Given the description of an element on the screen output the (x, y) to click on. 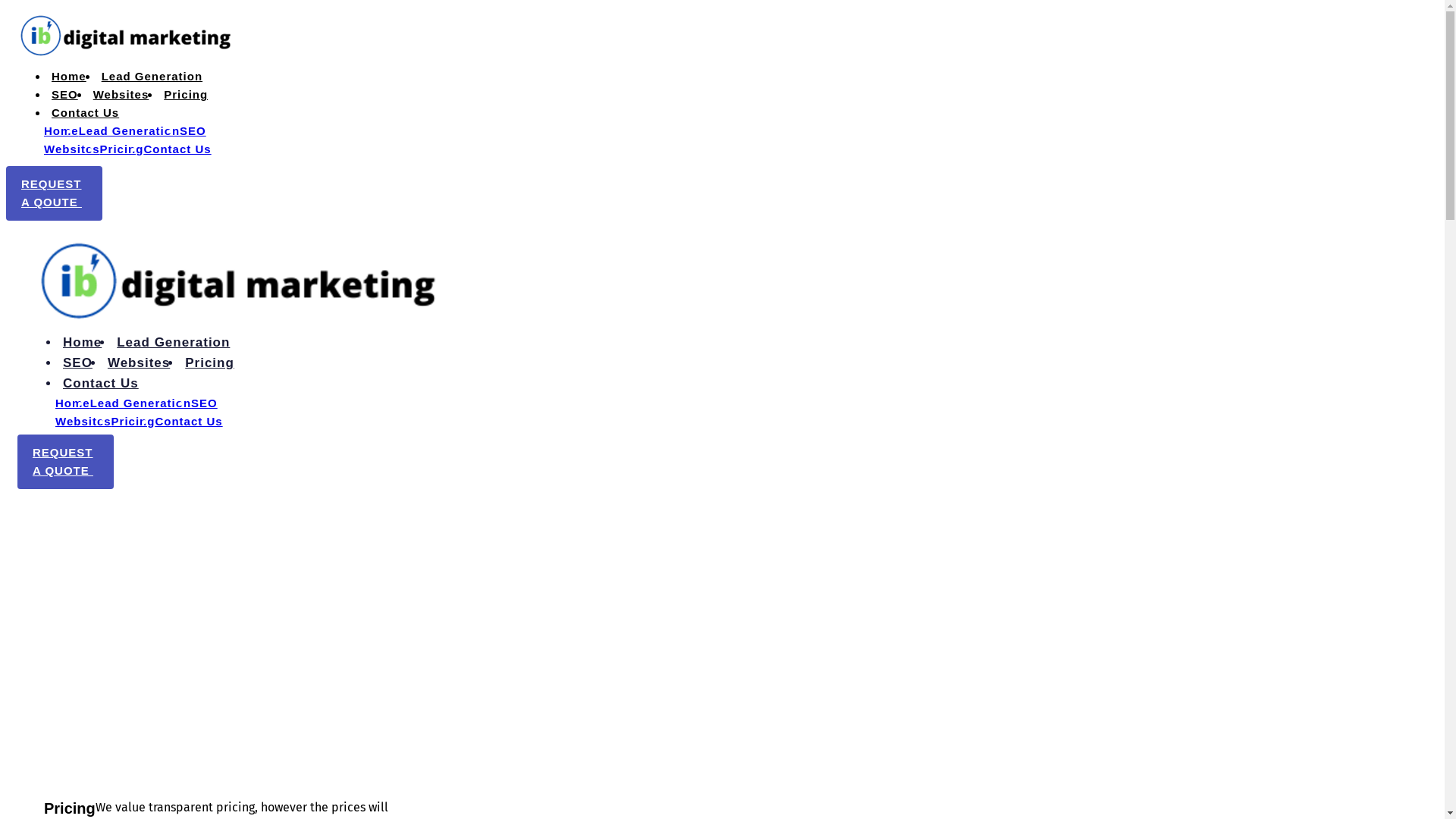
Home Element type: text (68, 75)
SEO Element type: text (64, 93)
Lead Generation Element type: text (151, 75)
Websites Element type: text (121, 93)
Contact Us Element type: text (176, 148)
REQUEST A QOUTE  Element type: text (54, 193)
Lead Generation Element type: text (128, 130)
REQUEST A QUOTE  Element type: text (65, 461)
Lead Generation Element type: text (140, 402)
Websites Element type: text (83, 420)
Home Element type: text (82, 342)
Pricing Element type: text (133, 420)
Home Element type: text (60, 130)
Contact Us Element type: text (84, 112)
Contact Us Element type: text (188, 420)
Pricing Element type: text (122, 148)
SEO Element type: text (192, 130)
Home Element type: text (72, 402)
Websites Element type: text (71, 148)
Pricing Element type: text (185, 93)
Contact Us Element type: text (100, 383)
SEO Element type: text (204, 402)
SEO Element type: text (77, 362)
Websites Element type: text (138, 362)
Lead Generation Element type: text (172, 342)
Pricing Element type: text (209, 362)
